Given the description of an element on the screen output the (x, y) to click on. 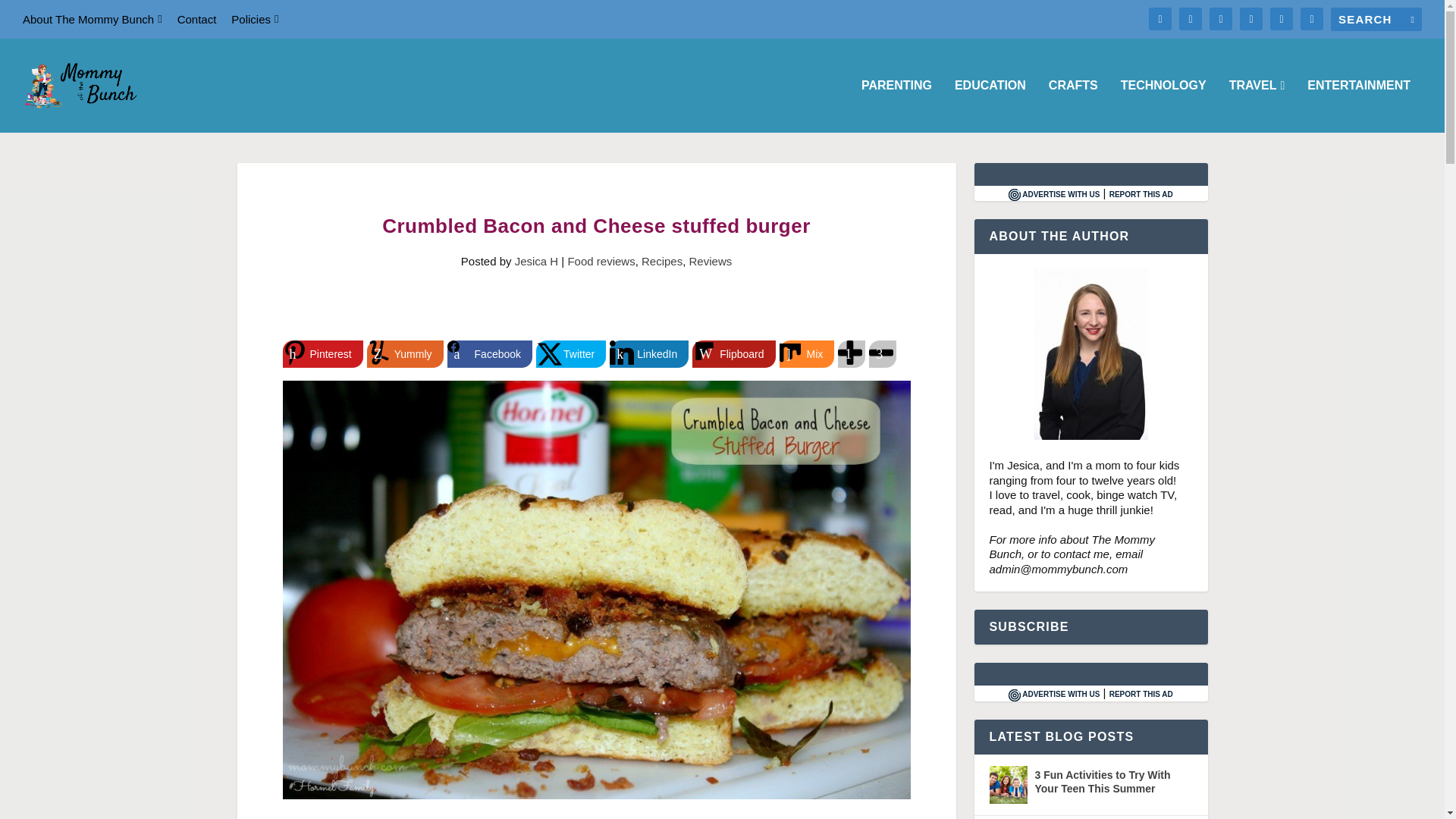
Posts by Jesica H (537, 260)
Recipes (662, 260)
Share on Flipboard (733, 353)
CRAFTS (1072, 105)
Food reviews (600, 260)
ENTERTAINMENT (1358, 105)
About The Mommy Bunch (92, 19)
Share on LinkedIn (649, 353)
Share on Twitter (570, 353)
Search for: (1376, 19)
TECHNOLOGY (1164, 105)
Flipboard (733, 353)
Yummly (405, 353)
LinkedIn (649, 353)
Facebook (489, 353)
